Given the description of an element on the screen output the (x, y) to click on. 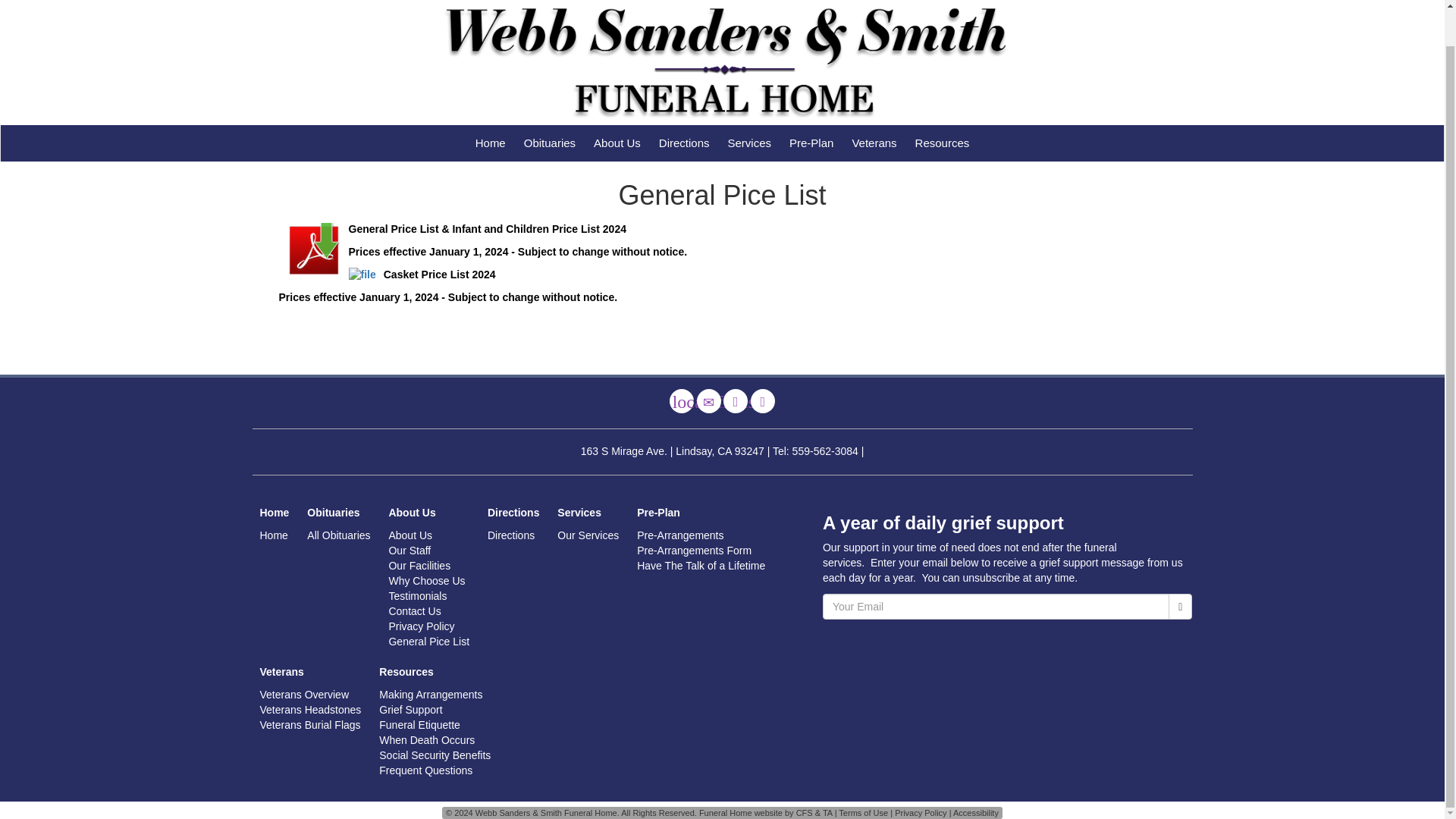
Resources (941, 143)
Services (748, 143)
Contact Us (708, 401)
Veterans (874, 143)
Button (762, 401)
About Us (617, 143)
Obituaries (550, 143)
Send Flowers (681, 401)
Directions (735, 401)
Directions (684, 143)
